Given the description of an element on the screen output the (x, y) to click on. 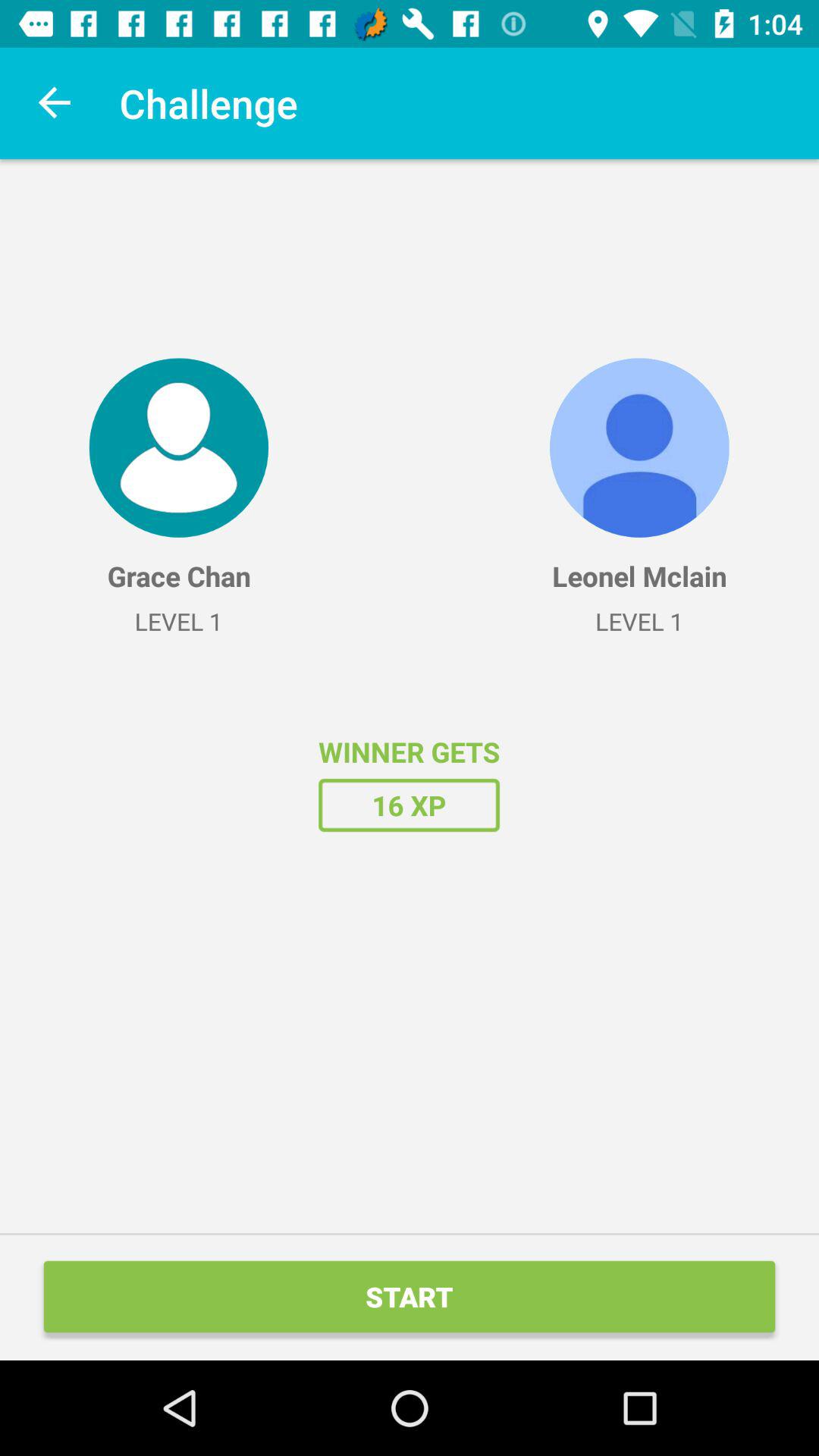
turn off the icon above the leonel mclain item (639, 447)
